Given the description of an element on the screen output the (x, y) to click on. 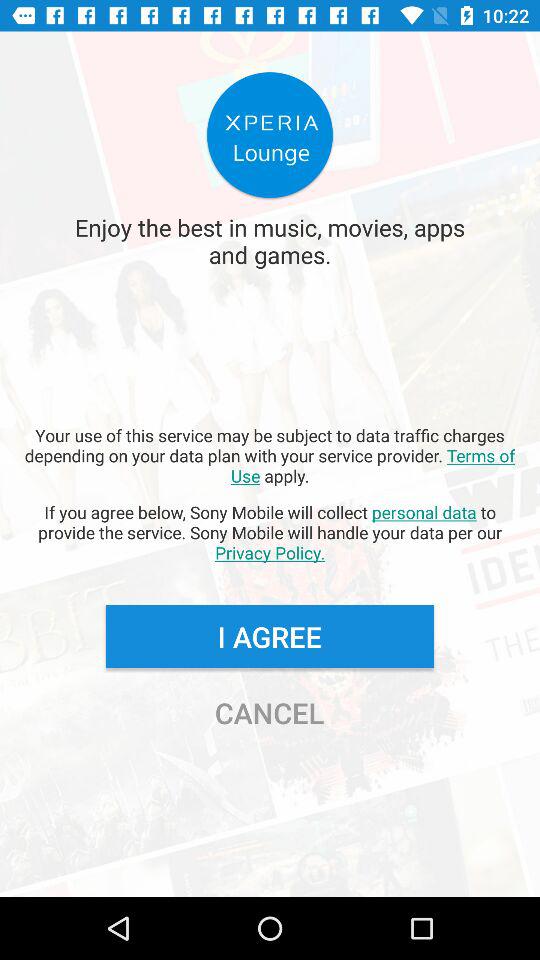
tap icon above the if you agree app (270, 455)
